Given the description of an element on the screen output the (x, y) to click on. 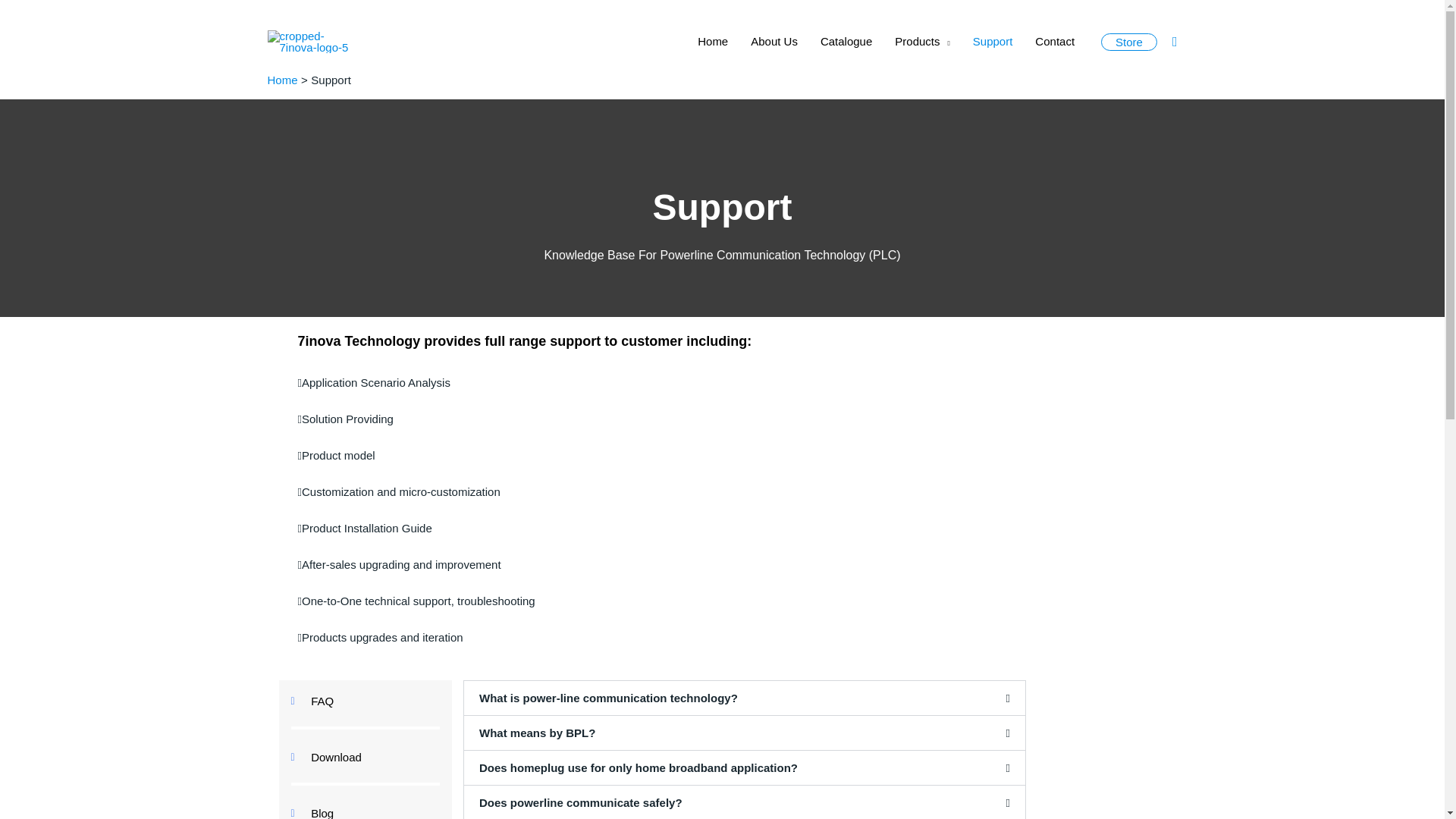
Catalogue (846, 41)
 Download (365, 757)
Products (921, 41)
Contact (1054, 41)
Does powerline communicate safely? (580, 802)
What is power-line communication technology? (608, 697)
 Blog (365, 811)
Home (281, 79)
What means by BPL? (537, 732)
Does homeplug use for only home broadband application? (638, 767)
 FAQ (365, 701)
About Us (774, 41)
Store (1128, 41)
Support (992, 41)
